Given the description of an element on the screen output the (x, y) to click on. 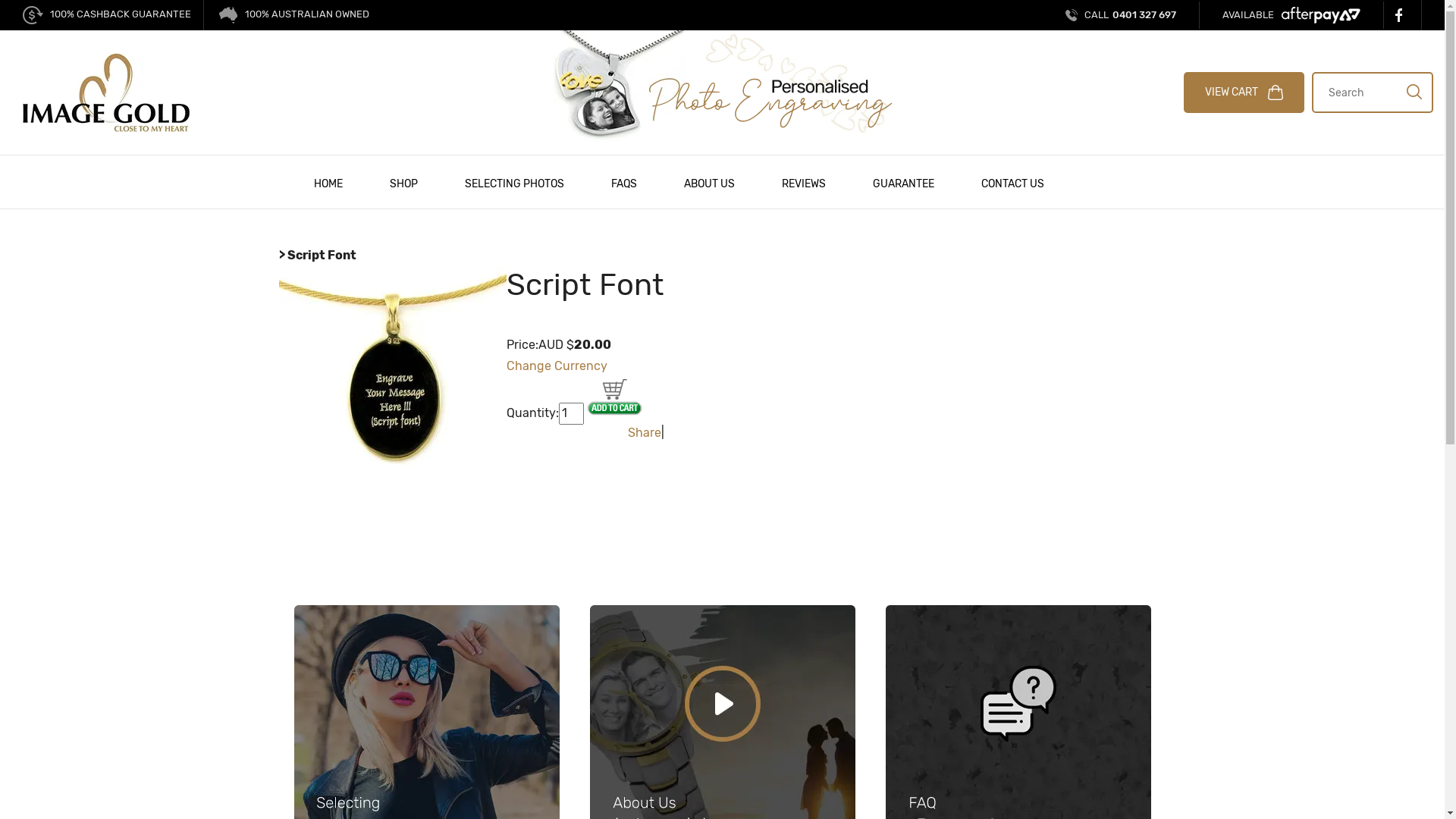
REVIEWS Element type: text (803, 182)
ABOUT US Element type: text (708, 182)
About us Element type: hover (722, 737)
facebook Element type: text (1402, 15)
Script Font Element type: hover (392, 377)
Read FAQ Element type: hover (1018, 737)
GUARANTEE Element type: text (903, 182)
Image Gold Element type: hover (105, 91)
Personalised Photo Engraving Element type: hover (722, 85)
Share Element type: text (644, 432)
FAQS Element type: text (623, 182)
HOME Element type: text (327, 182)
VIEW CART Element type: text (1243, 92)
Selecting Photos Element type: hover (426, 737)
search Element type: hover (1413, 90)
CONTACT US Element type: text (1011, 182)
CALL0401 327 697 Element type: text (1120, 15)
Change Currency Element type: text (556, 365)
SELECTING PHOTOS Element type: text (514, 182)
SHOP Element type: text (402, 182)
